Given the description of an element on the screen output the (x, y) to click on. 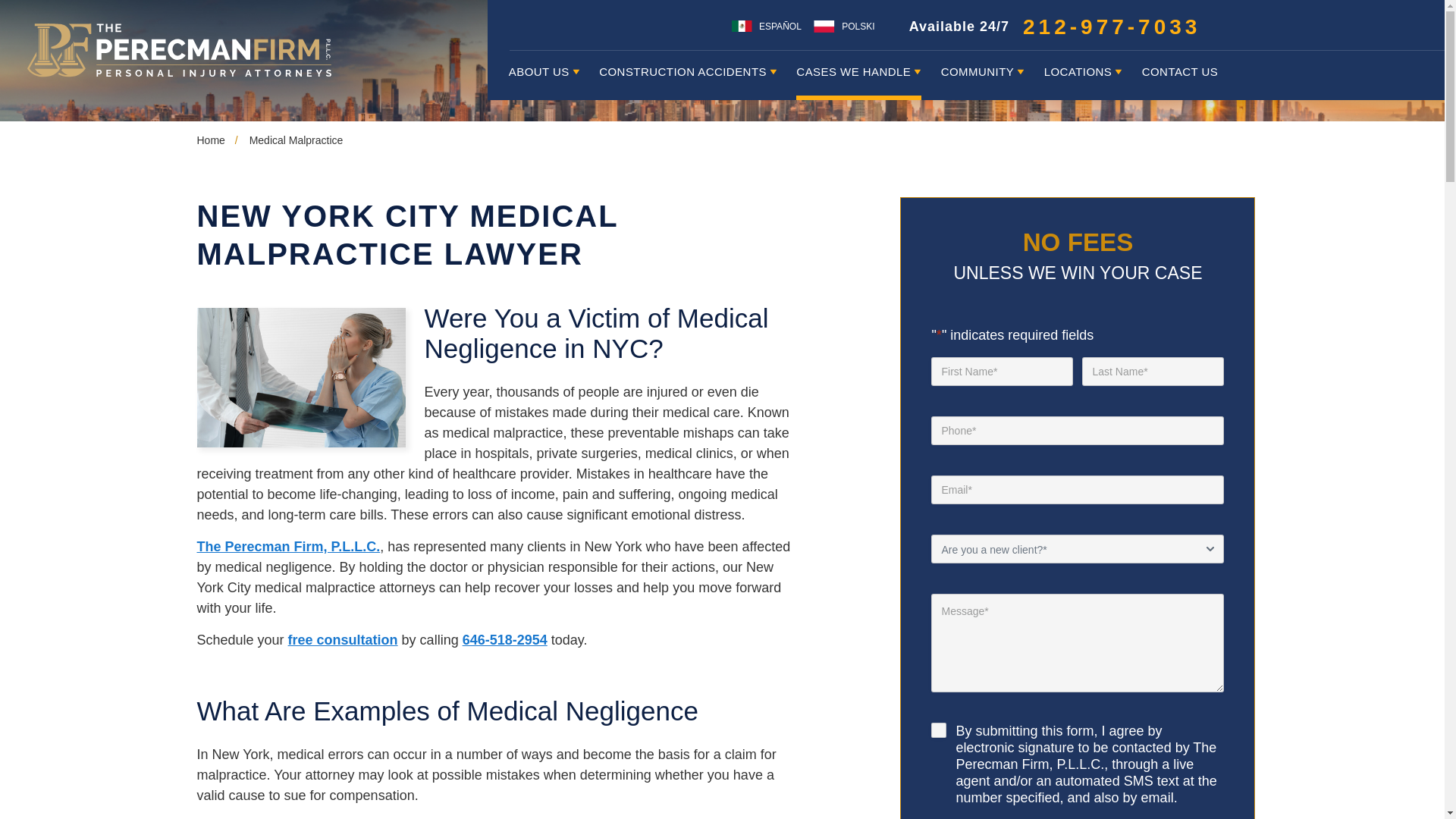
Construction Accidents (687, 73)
About Us (543, 73)
